Given the description of an element on the screen output the (x, y) to click on. 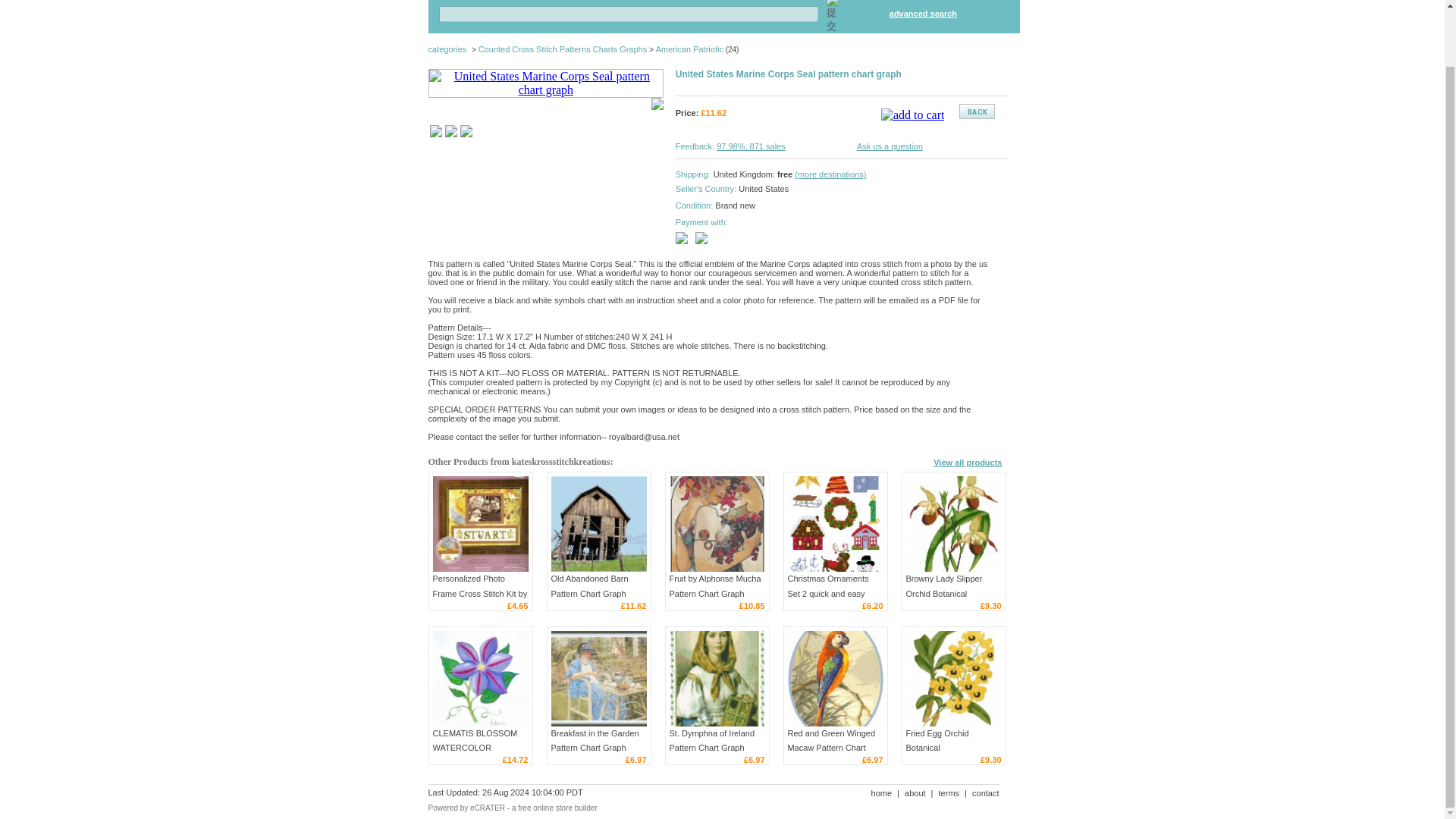
Christmas Ornaments Set 2 quick and easy Pattern Chart Graph (834, 523)
advanced search (922, 13)
Old Abandoned Barn Pattern Chart Graph (588, 585)
Counted Cross Stitch Patterns Charts Graphs (563, 49)
Breakfast in the Garden Pattern Chart Graph (594, 740)
Ask us a question (890, 145)
Red and Green Winged Macaw Pattern Chart Graph (834, 678)
Fried Egg Orchid Botanical (936, 740)
Red and Green Winged Macaw Pattern Chart Graph (831, 747)
Old Abandoned Barn Pattern Chart Graph (598, 523)
